Given the description of an element on the screen output the (x, y) to click on. 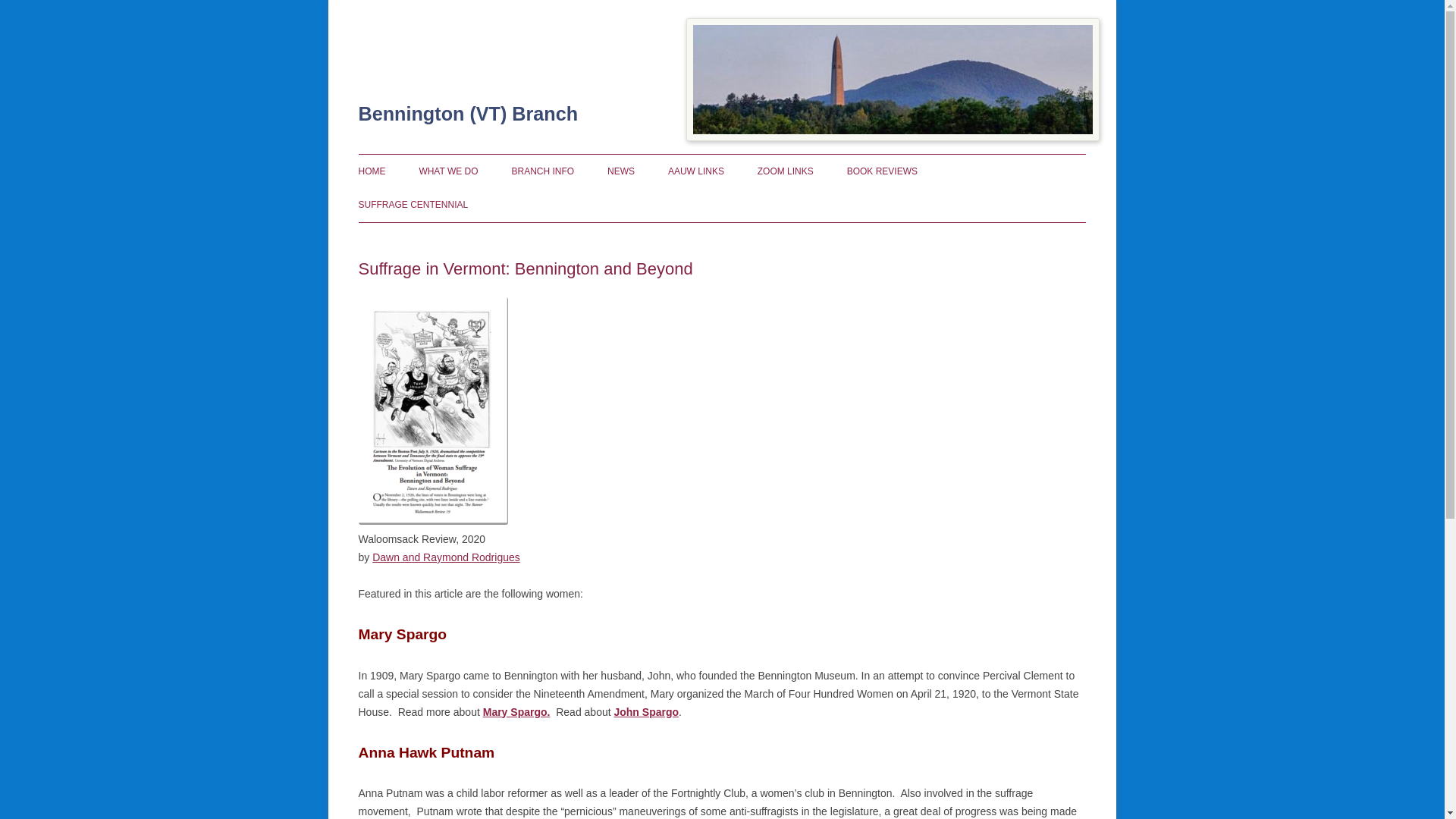
WHAT WE DO (448, 171)
Mary Spargo. (516, 711)
ZOOM LINKS (785, 171)
Dawn and Raymond Rodrigues (445, 557)
BRANCH INFO (542, 171)
BOOK REVIEWS (882, 171)
SUFFRAGE CENTENNIAL (412, 204)
John Spargo (645, 711)
